Given the description of an element on the screen output the (x, y) to click on. 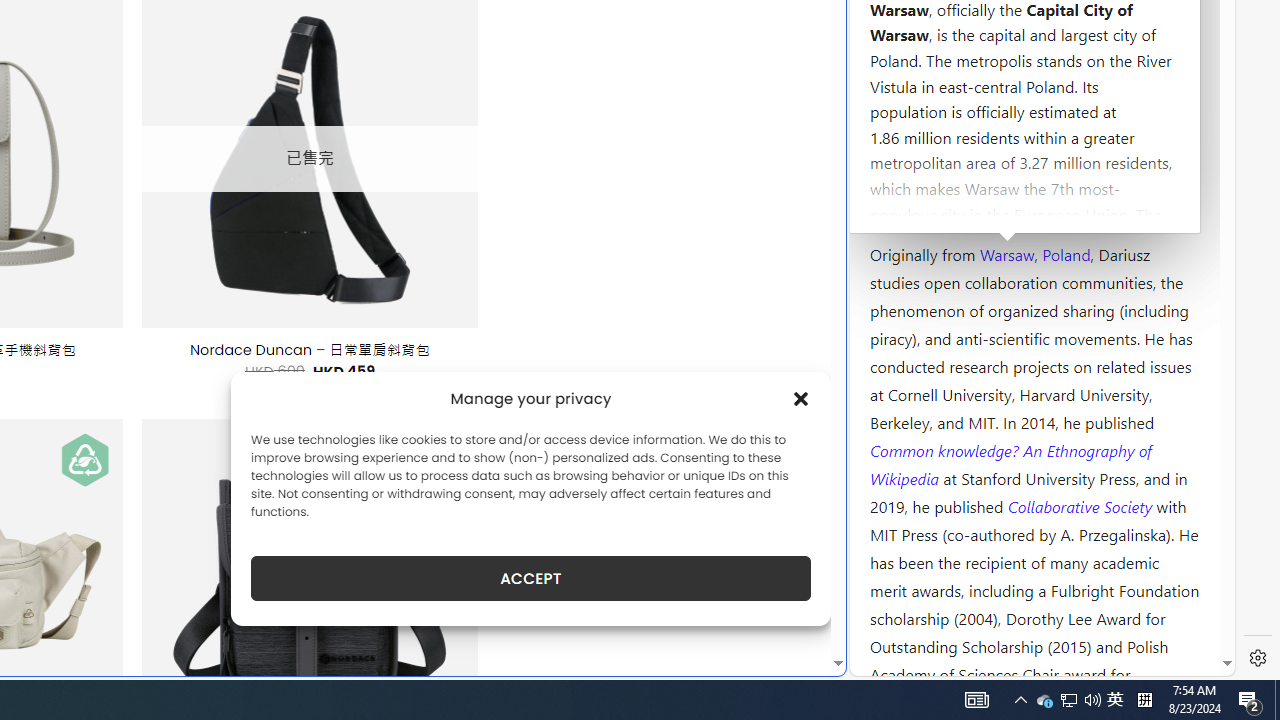
Warsaw (1006, 253)
Class: cmplz-close (801, 398)
Common knowledge? An Ethnography of Wikipedia (1010, 463)
